Given the description of an element on the screen output the (x, y) to click on. 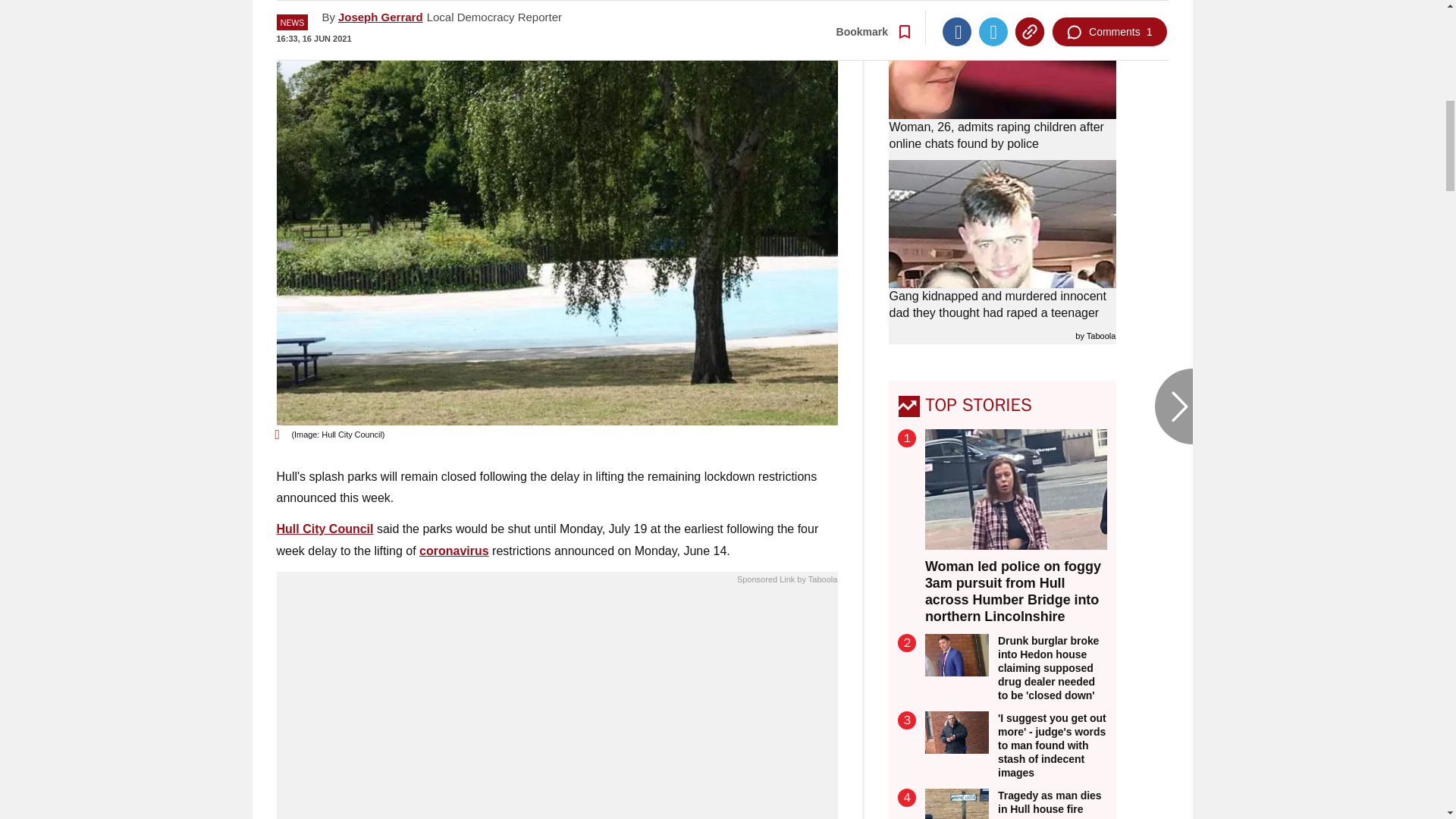
The Most Famous WWE Wrestlers: Where Are They Now? (557, 706)
Latest Hull City Council news- Hull Live (324, 528)
Go (730, 17)
Latest coronavirus news- Hull Live (454, 550)
